Given the description of an element on the screen output the (x, y) to click on. 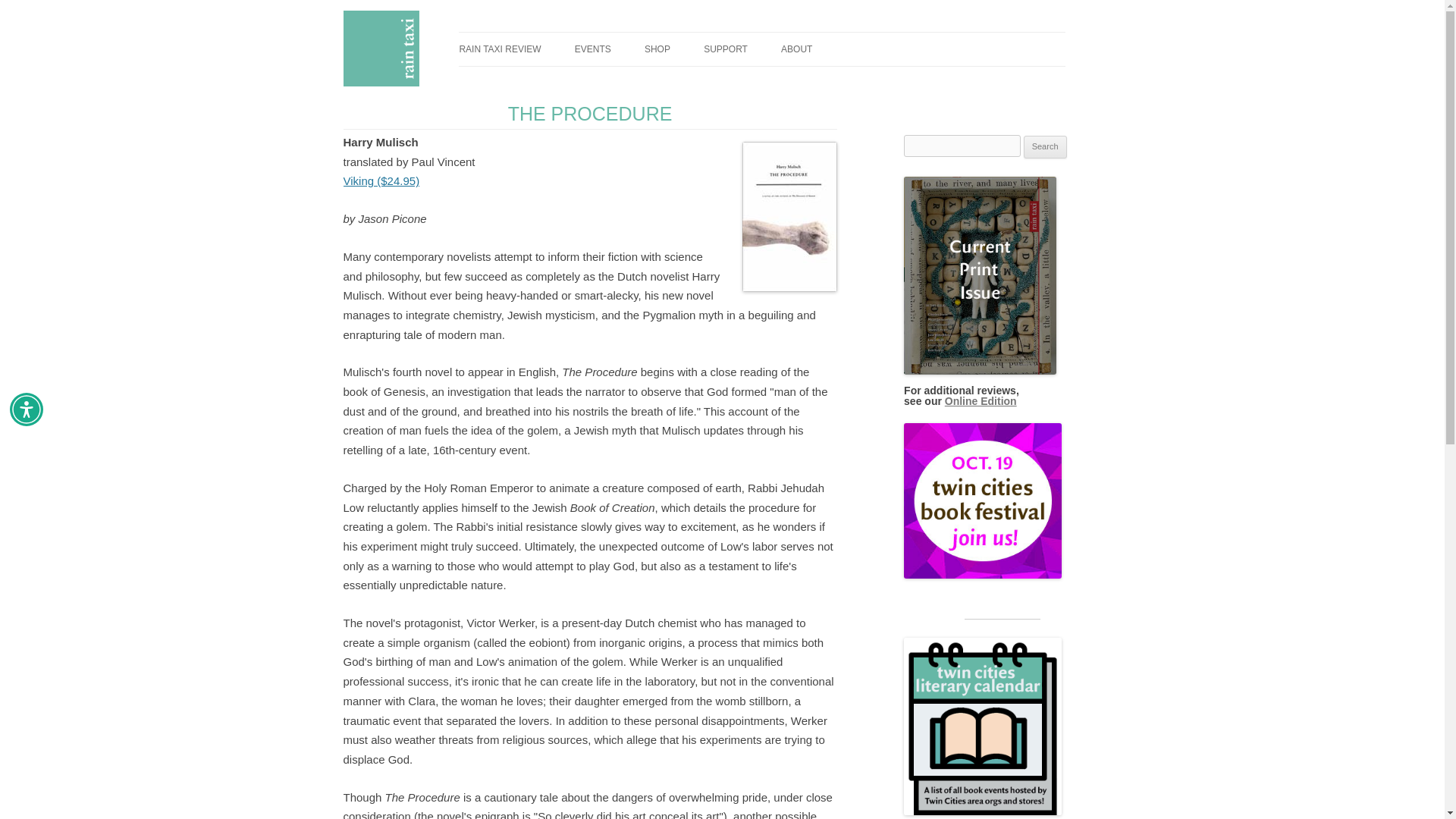
Accessibility Menu (26, 409)
CURRENT EDITIONS (534, 81)
Search (1045, 146)
RAIN TAXI REVIEW (499, 49)
